Given the description of an element on the screen output the (x, y) to click on. 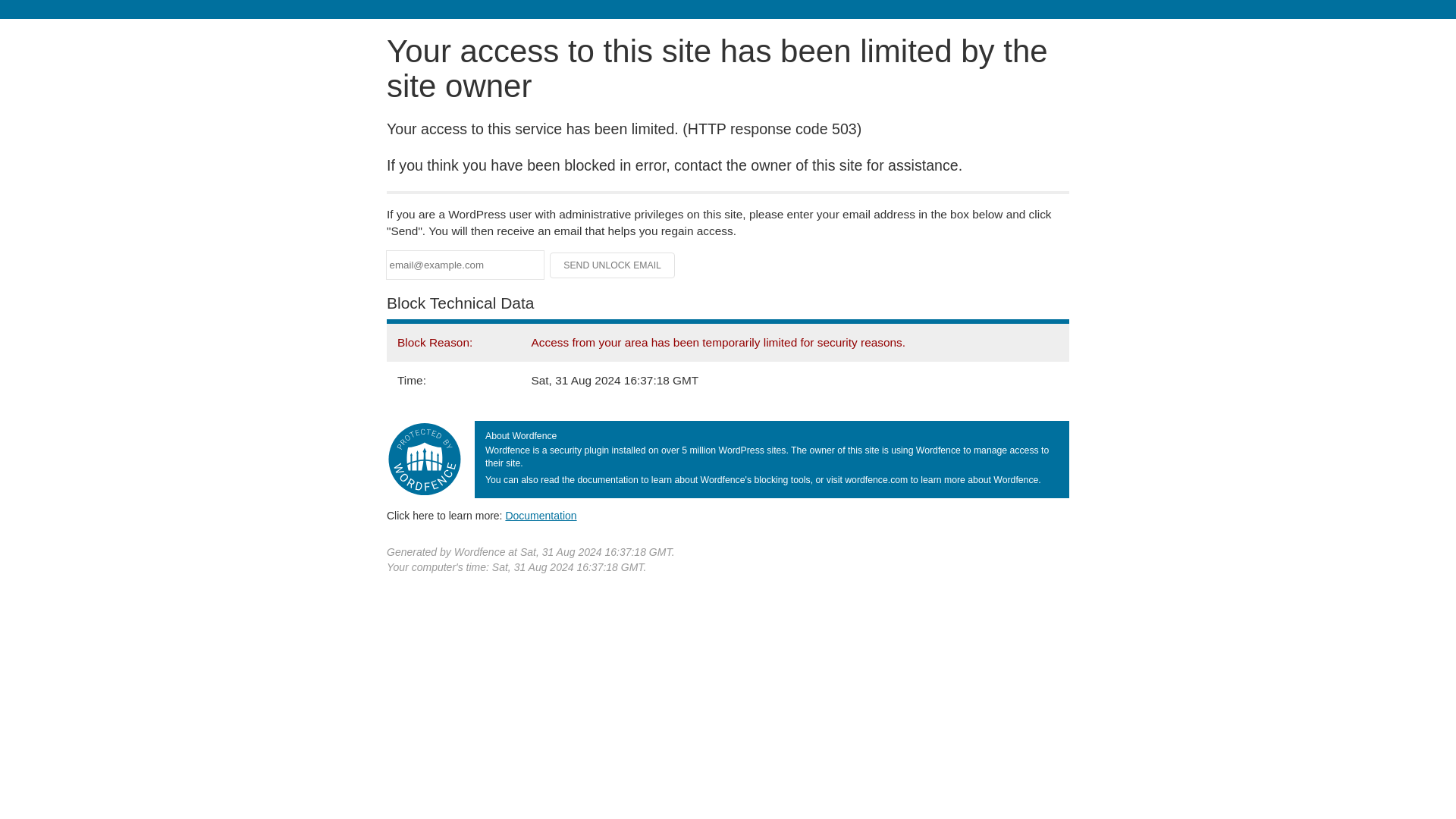
Send Unlock Email (612, 265)
Documentation (540, 515)
Send Unlock Email (612, 265)
